Given the description of an element on the screen output the (x, y) to click on. 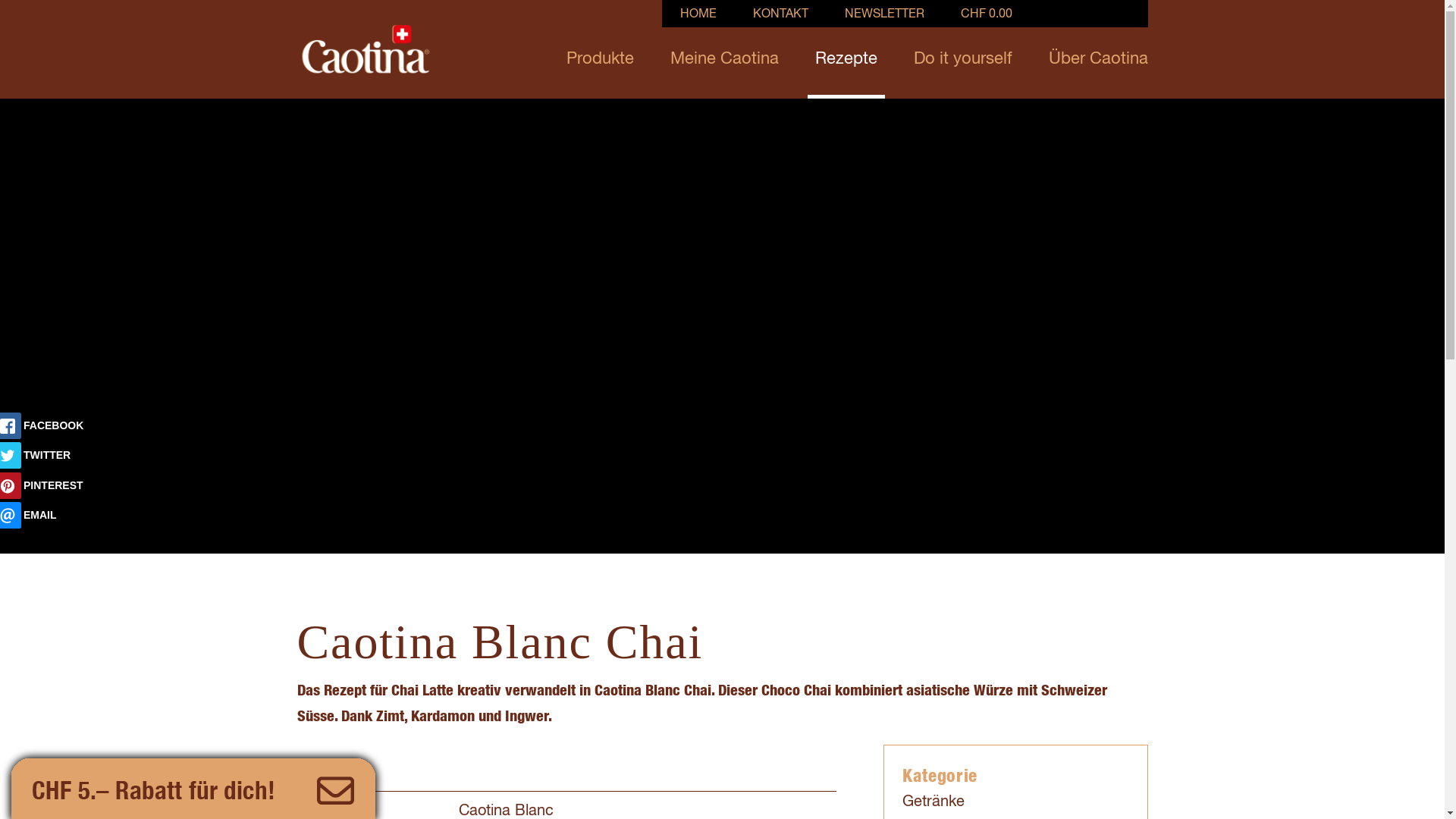
NEWSLETTER Element type: text (884, 13)
Meine Caotina Element type: text (724, 49)
Produkte Element type: text (599, 49)
Direkt zum Inhalt Element type: text (0, 0)
KONTAKT Element type: text (779, 13)
HOME Element type: text (697, 13)
Rezepte Element type: text (845, 49)
CHF 0.00 Element type: text (991, 13)
caotina.ch Element type: text (365, 50)
Do it yourself Element type: text (961, 49)
